Given the description of an element on the screen output the (x, y) to click on. 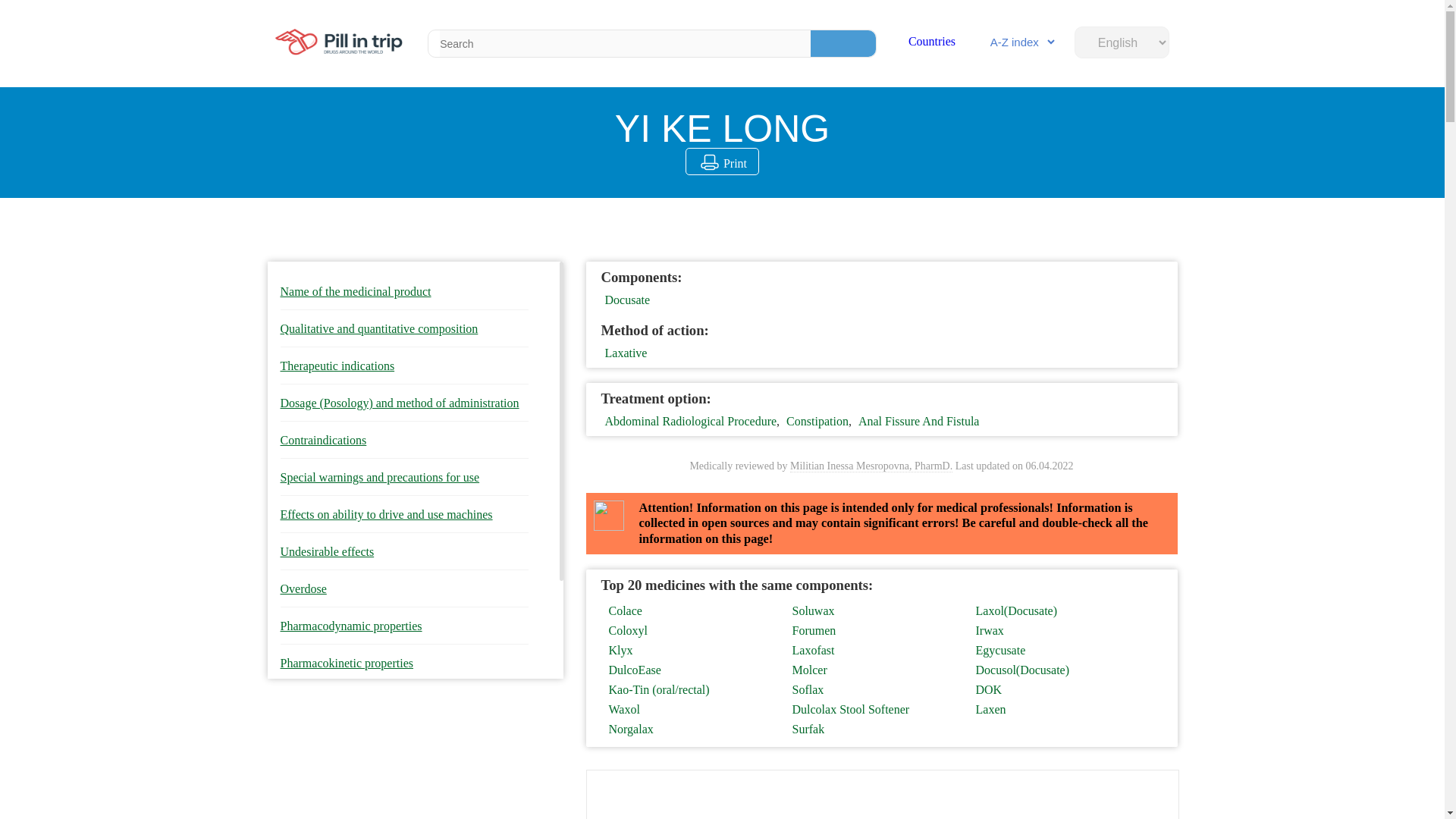
Militian Inessa Mesropovna, PharmD. (871, 466)
Constipation (817, 420)
Forumen (875, 630)
DOK (1058, 689)
Abdominal Radiological Procedure (691, 420)
Soluwax (875, 611)
Waxol (692, 709)
Klyx (692, 650)
Special warnings and precautions for use (405, 478)
Countries (931, 41)
